Given the description of an element on the screen output the (x, y) to click on. 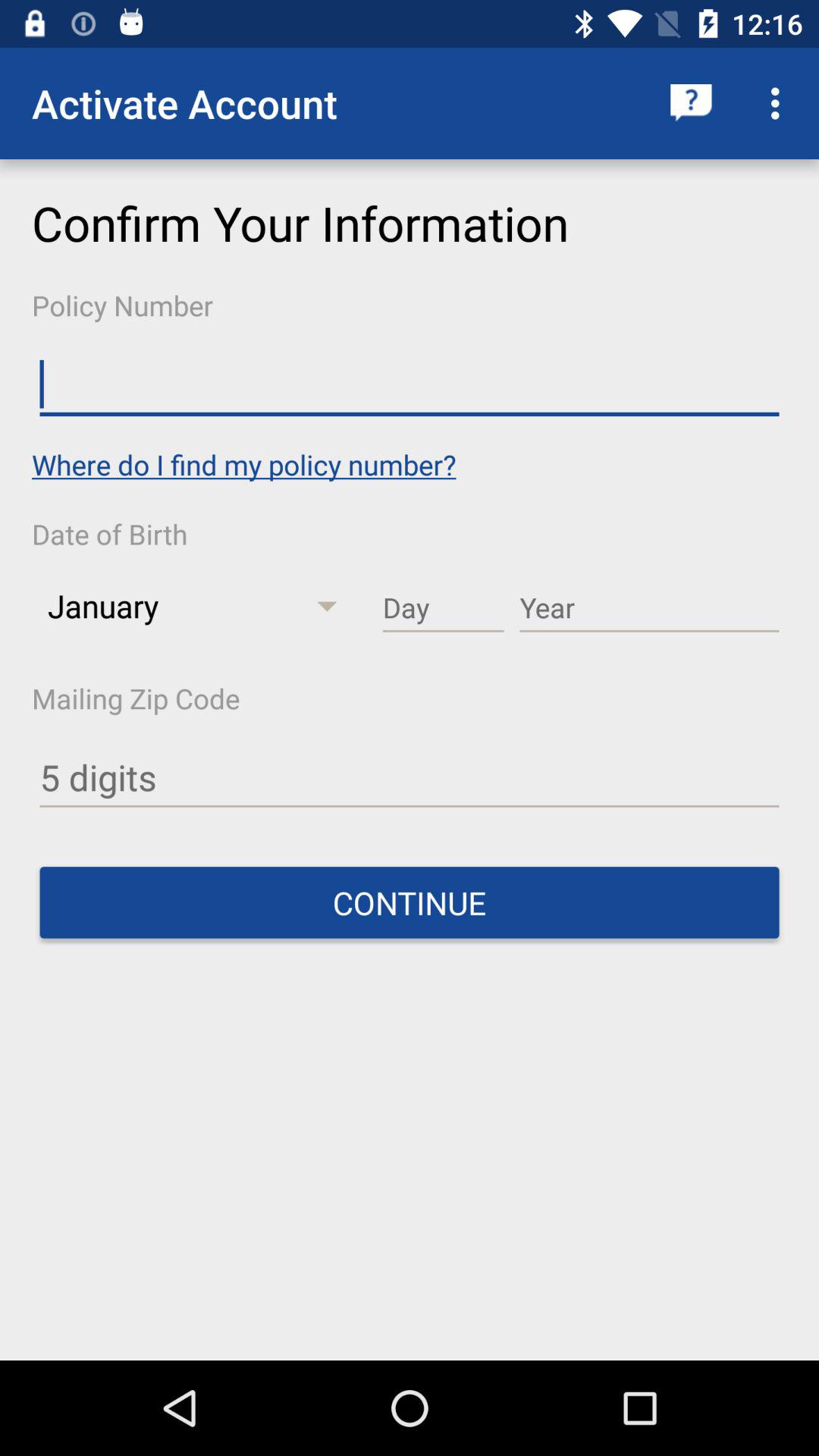
choose item to the right of the activate account app (691, 103)
